Given the description of an element on the screen output the (x, y) to click on. 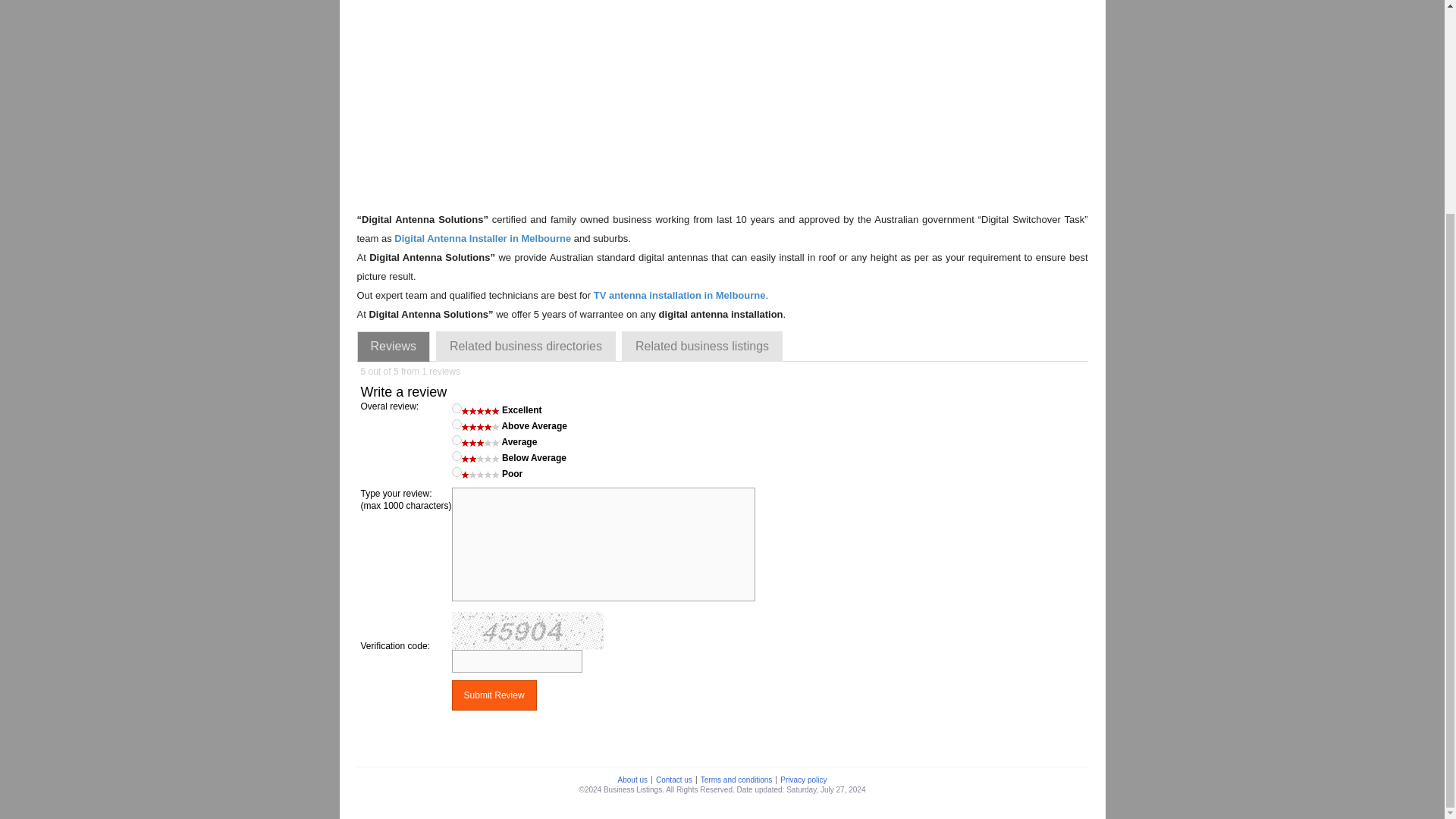
Privacy policy (802, 779)
Related business directories (525, 346)
Contact us (673, 779)
Terms and conditions (736, 779)
TV antenna installation in Melbourne (679, 295)
Submit Review (494, 695)
1 (456, 471)
Related business listings (702, 346)
Reviews (392, 346)
5 (456, 408)
3 (456, 439)
Digital Antenna Installer in Melbourne (482, 238)
2 (456, 456)
4 (456, 424)
